Given the description of an element on the screen output the (x, y) to click on. 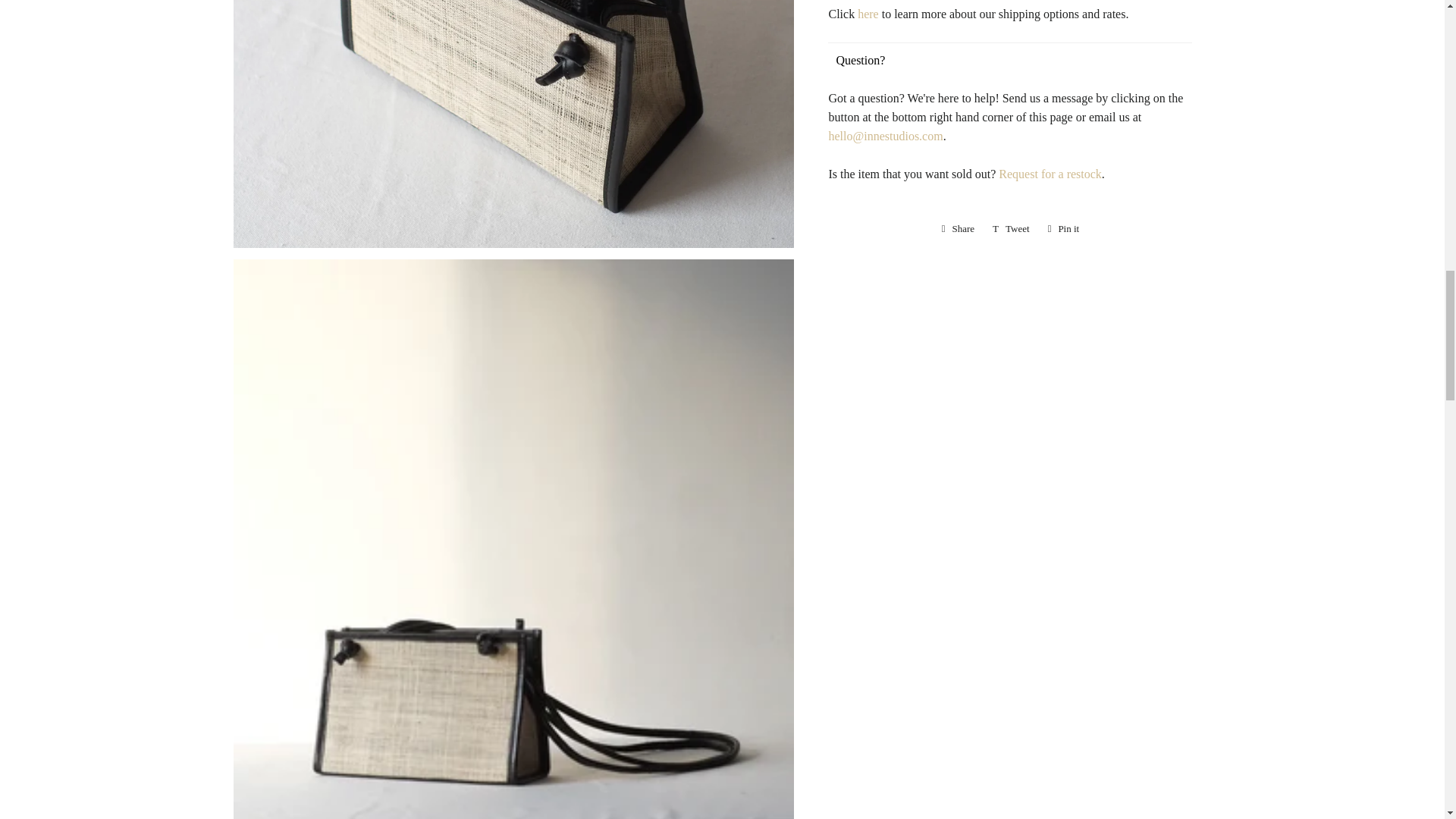
Tweet on Twitter (1010, 228)
Share on Facebook (957, 228)
Pin on Pinterest (1064, 228)
